Given the description of an element on the screen output the (x, y) to click on. 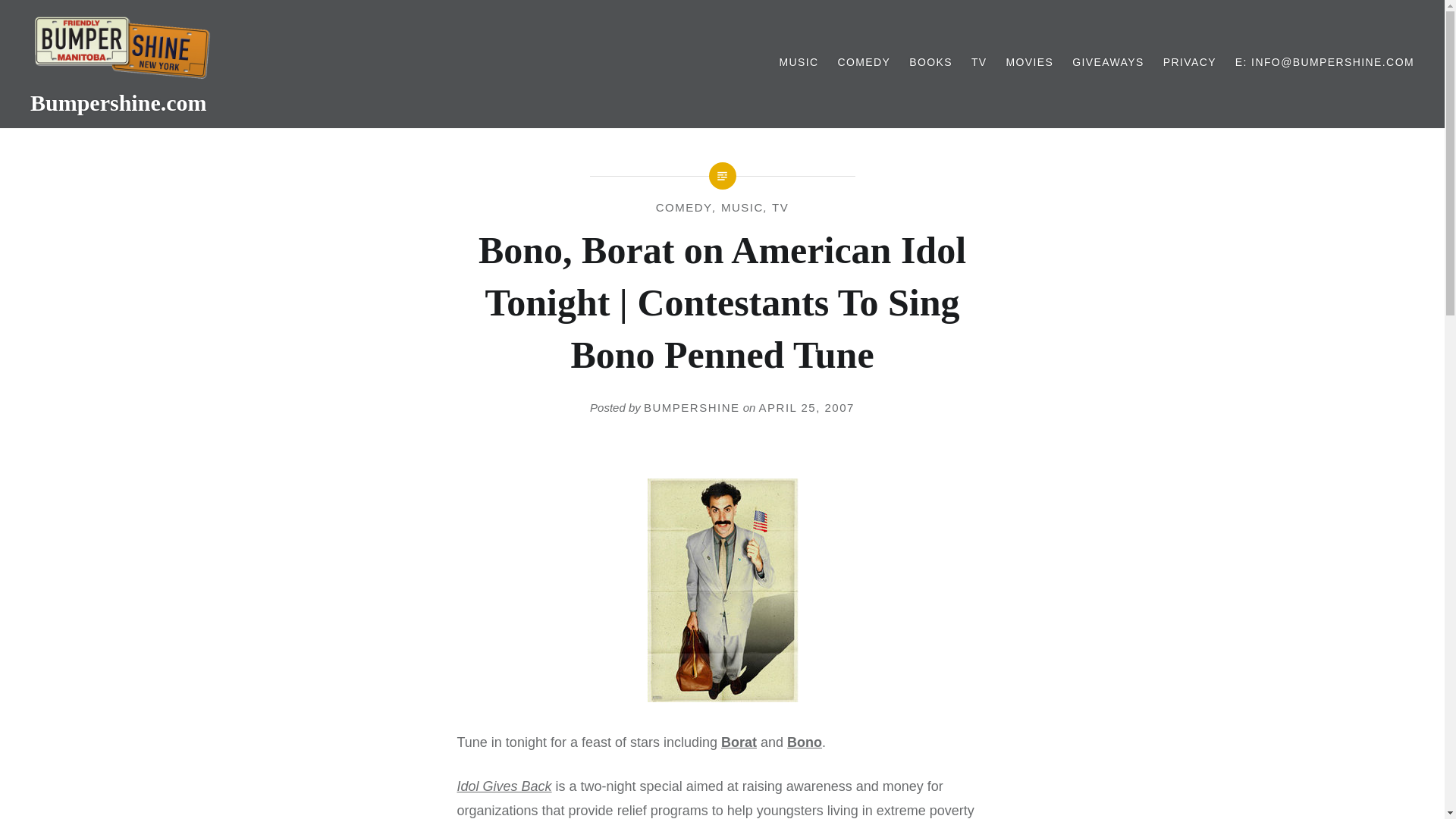
Bono (804, 742)
APRIL 25, 2007 (806, 407)
Idol Gives Back (504, 785)
MOVIES (1029, 62)
BUMPERSHINE (691, 407)
TV (979, 62)
BOOKS (930, 62)
GIVEAWAYS (1107, 62)
TV (780, 206)
MUSIC (798, 62)
Borat (738, 742)
PRIVACY (1189, 62)
Search (190, 19)
COMEDY (863, 62)
COMEDY (684, 206)
